Given the description of an element on the screen output the (x, y) to click on. 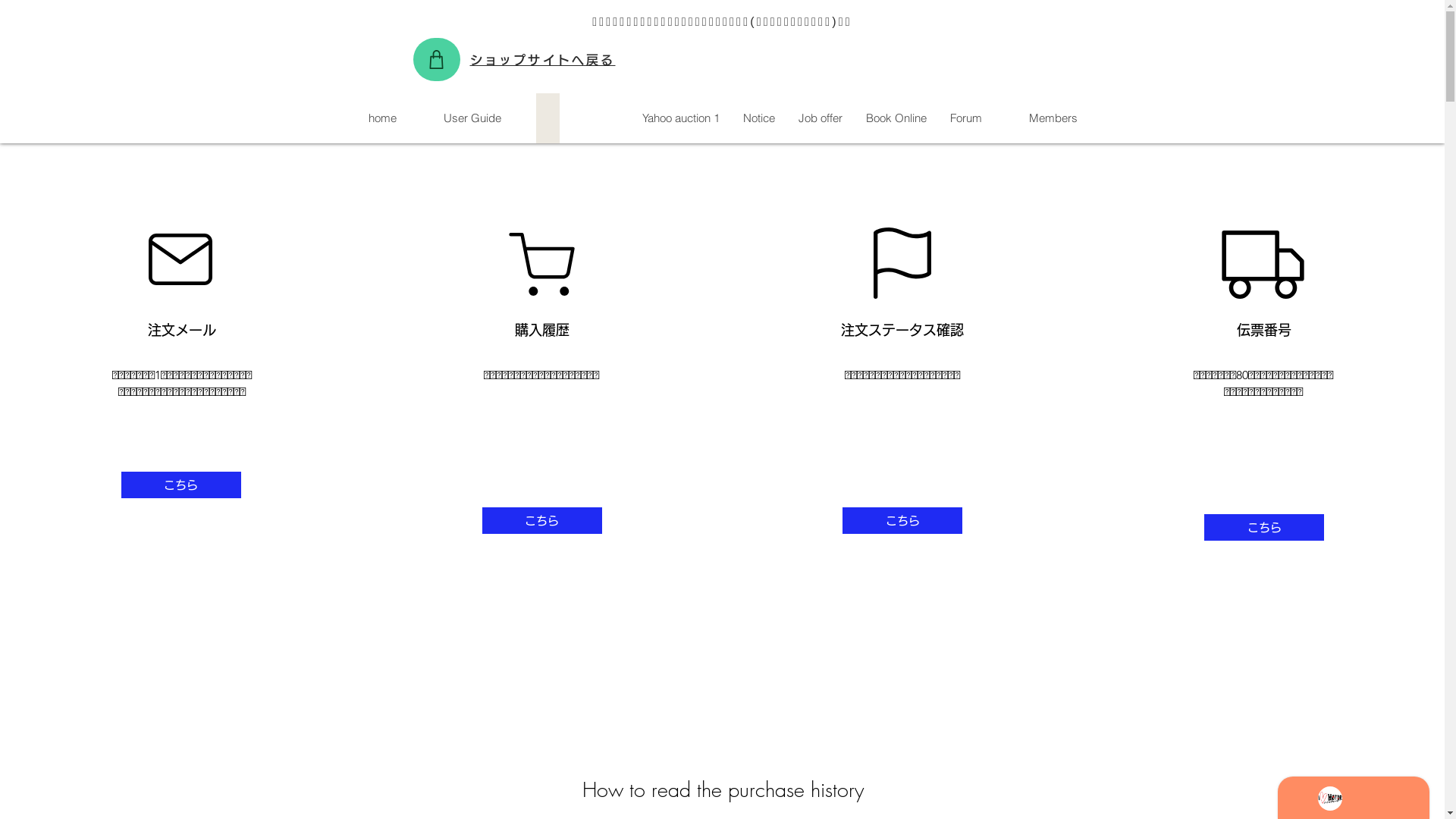
home Element type: text (381, 118)
Notice Element type: text (758, 118)
Yahoo auction 1 Element type: text (679, 118)
Forum Element type: text (964, 118)
Job offer Element type: text (819, 118)
User Guide Element type: text (470, 118)
Book Online Element type: text (895, 118)
Members Element type: text (1052, 118)
